Given the description of an element on the screen output the (x, y) to click on. 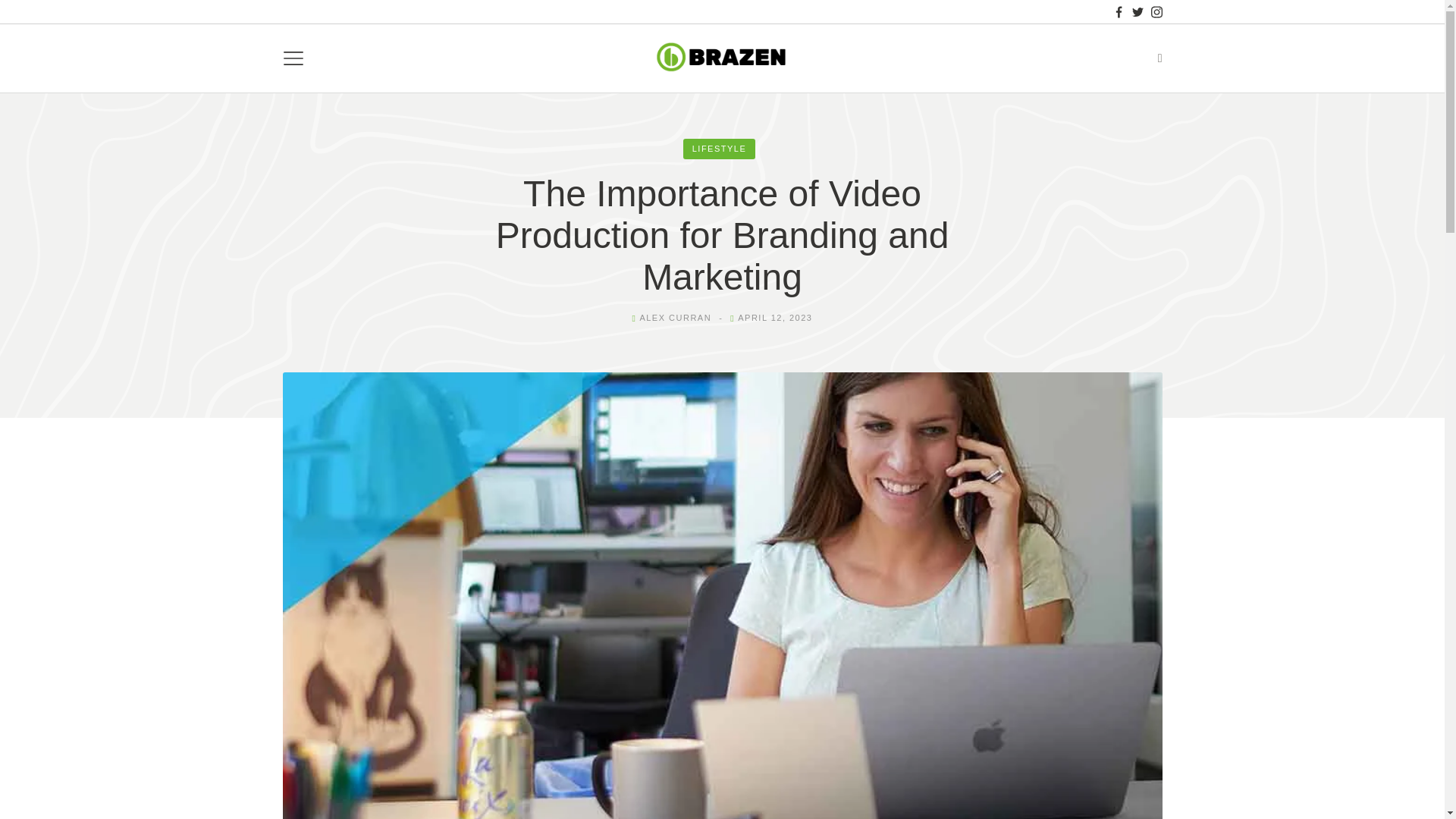
LIFESTYLE (718, 148)
ALEX CURRAN (675, 317)
APRIL 12, 2023 (775, 317)
